Given the description of an element on the screen output the (x, y) to click on. 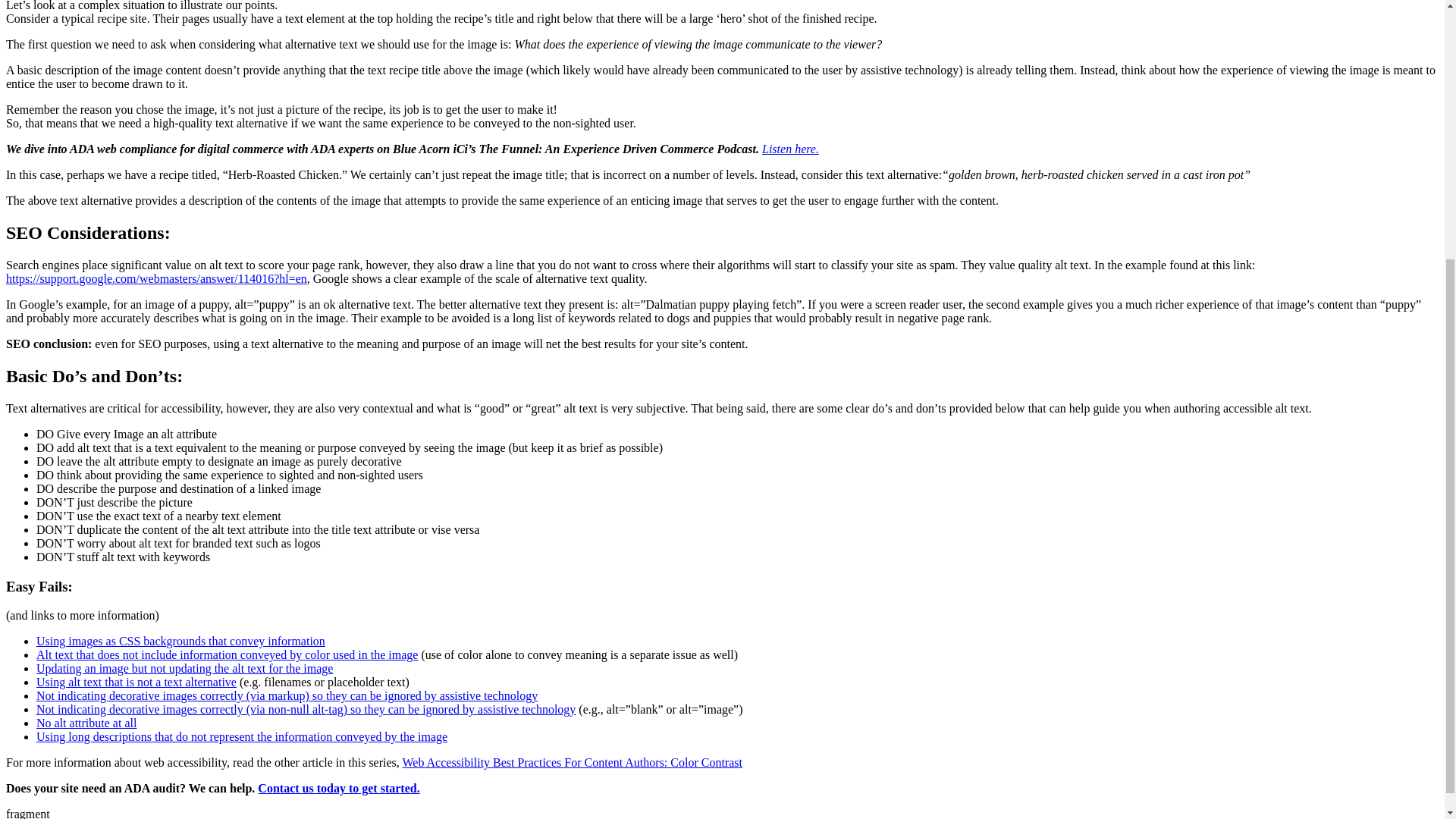
Listen here. (789, 148)
No alt attribute at all (86, 722)
Using alt text that is not a text alternative (135, 681)
Contact us today to get started. (338, 788)
Using images as CSS backgrounds that convey information (180, 640)
